Given the description of an element on the screen output the (x, y) to click on. 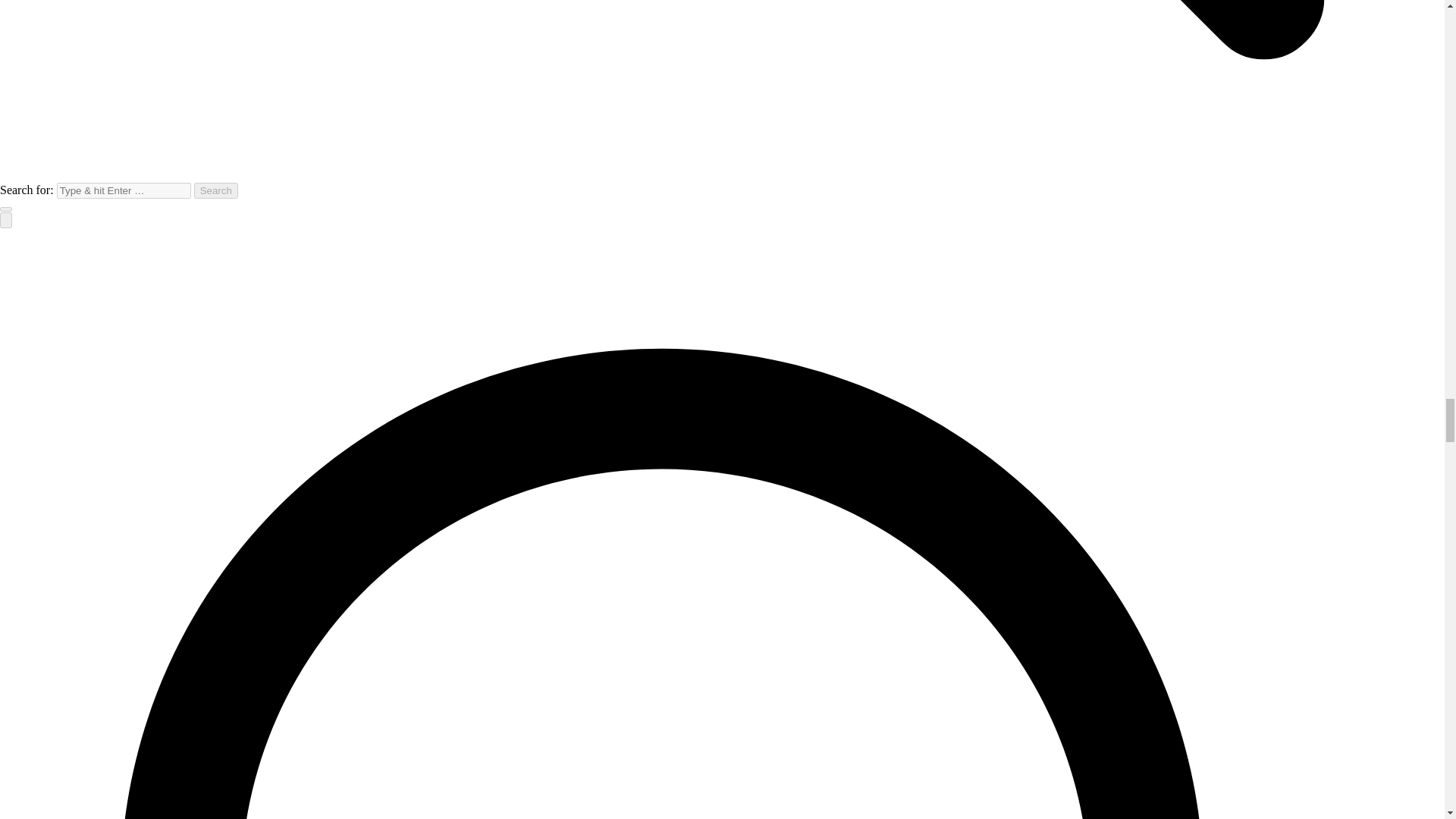
Search for: (123, 190)
Search (215, 190)
Search (215, 190)
Search (215, 190)
